Given the description of an element on the screen output the (x, y) to click on. 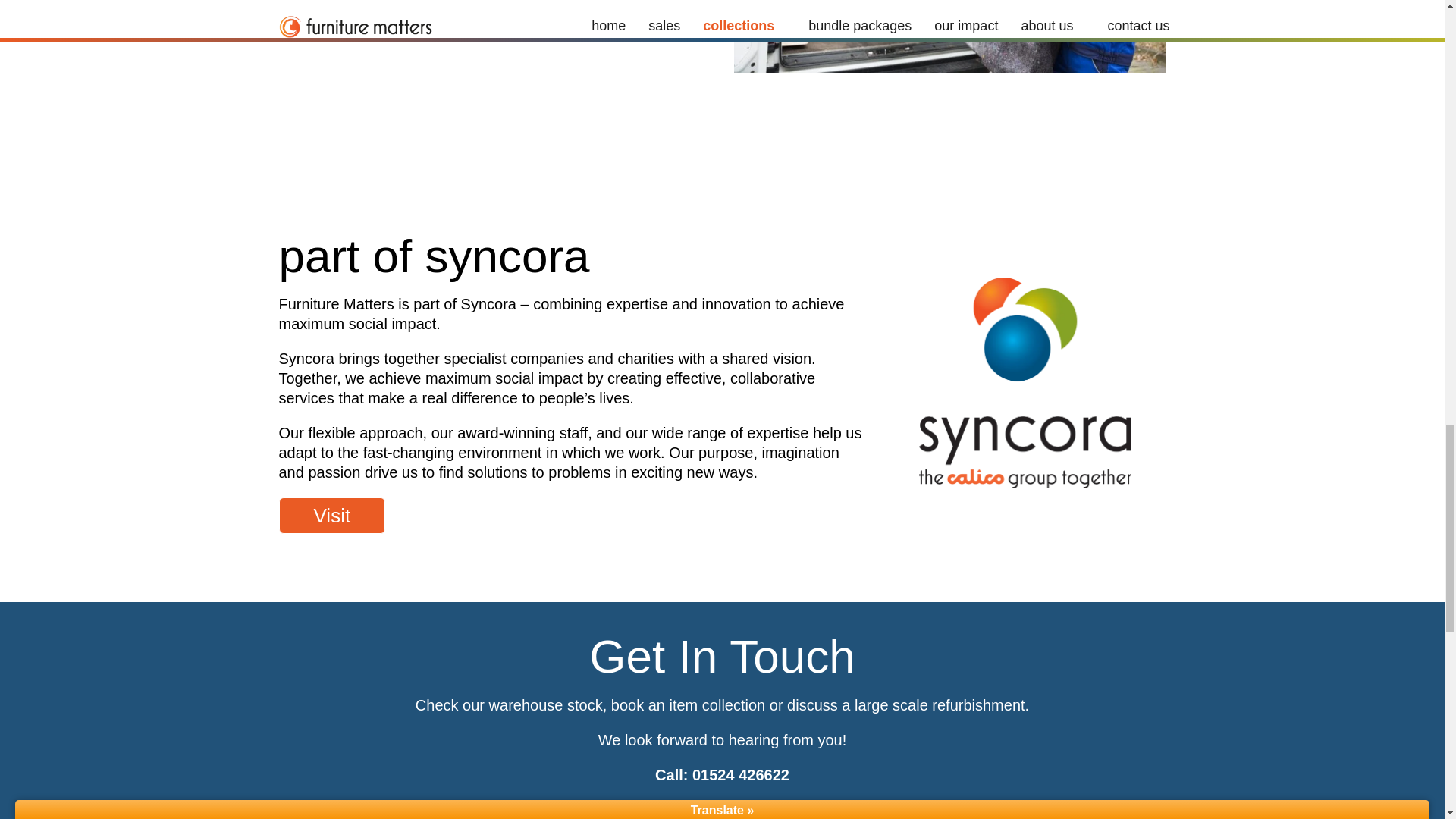
Find out more (374, 16)
01524 426622 (741, 774)
Visit (332, 515)
